Given the description of an element on the screen output the (x, y) to click on. 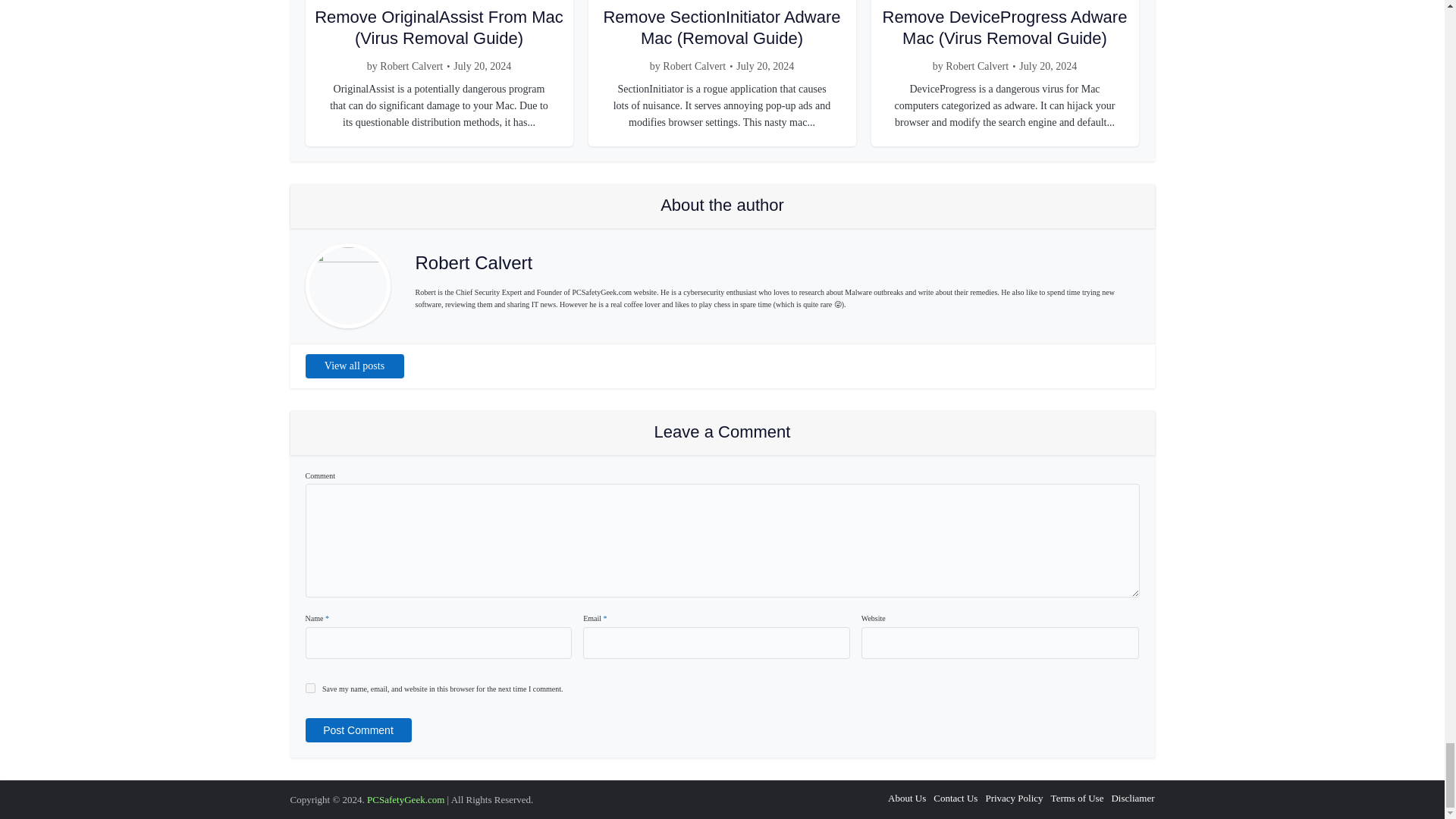
Post Comment (357, 730)
yes (309, 687)
